Given the description of an element on the screen output the (x, y) to click on. 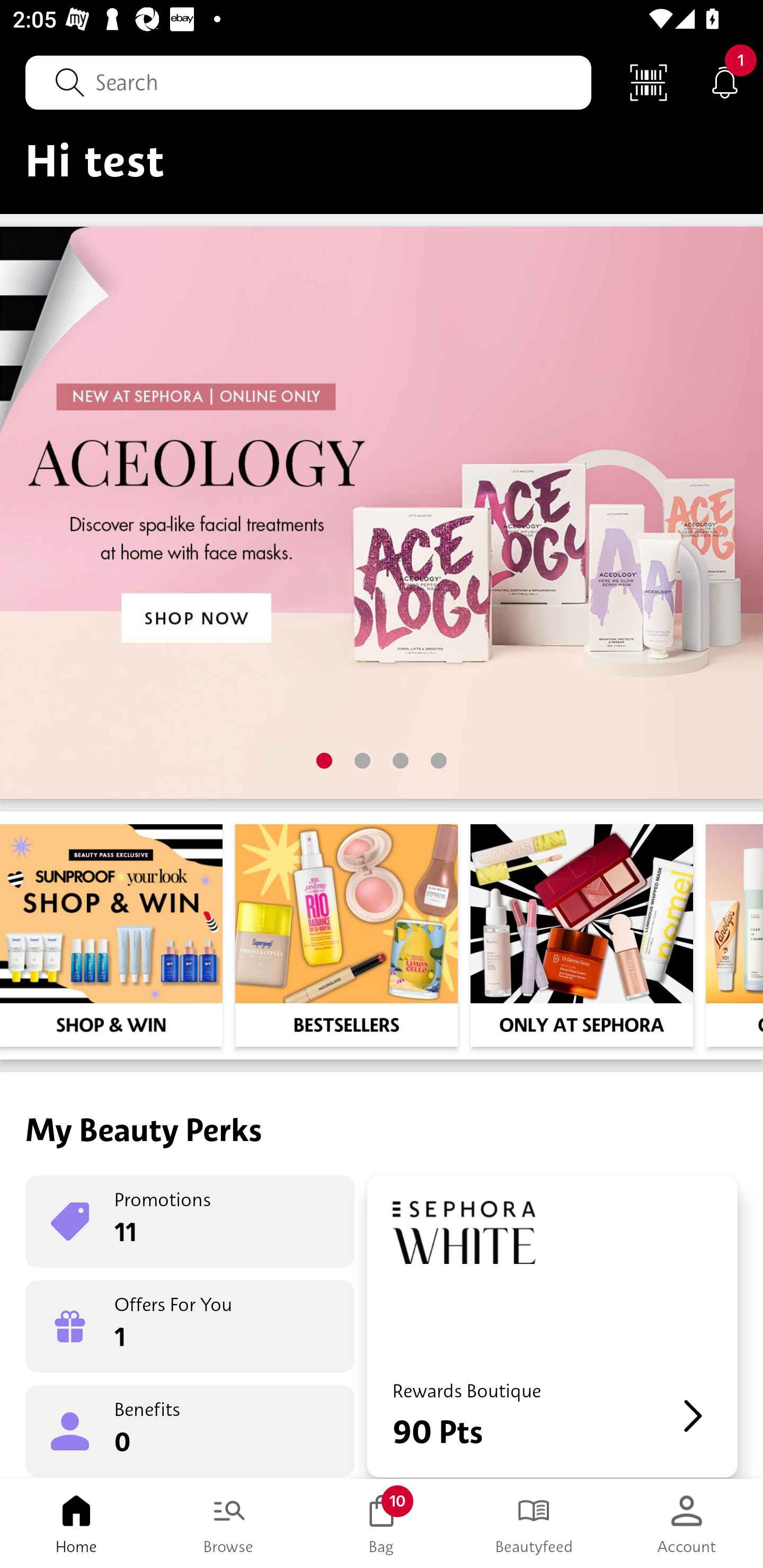
Scan Code (648, 81)
Notifications (724, 81)
Search (308, 81)
Promotions 11 (189, 1221)
Rewards Boutique 90 Pts (552, 1326)
Offers For You 1 (189, 1326)
Benefits 0 (189, 1430)
Browse (228, 1523)
Bag 10 Bag (381, 1523)
Beautyfeed (533, 1523)
Account (686, 1523)
